Given the description of an element on the screen output the (x, y) to click on. 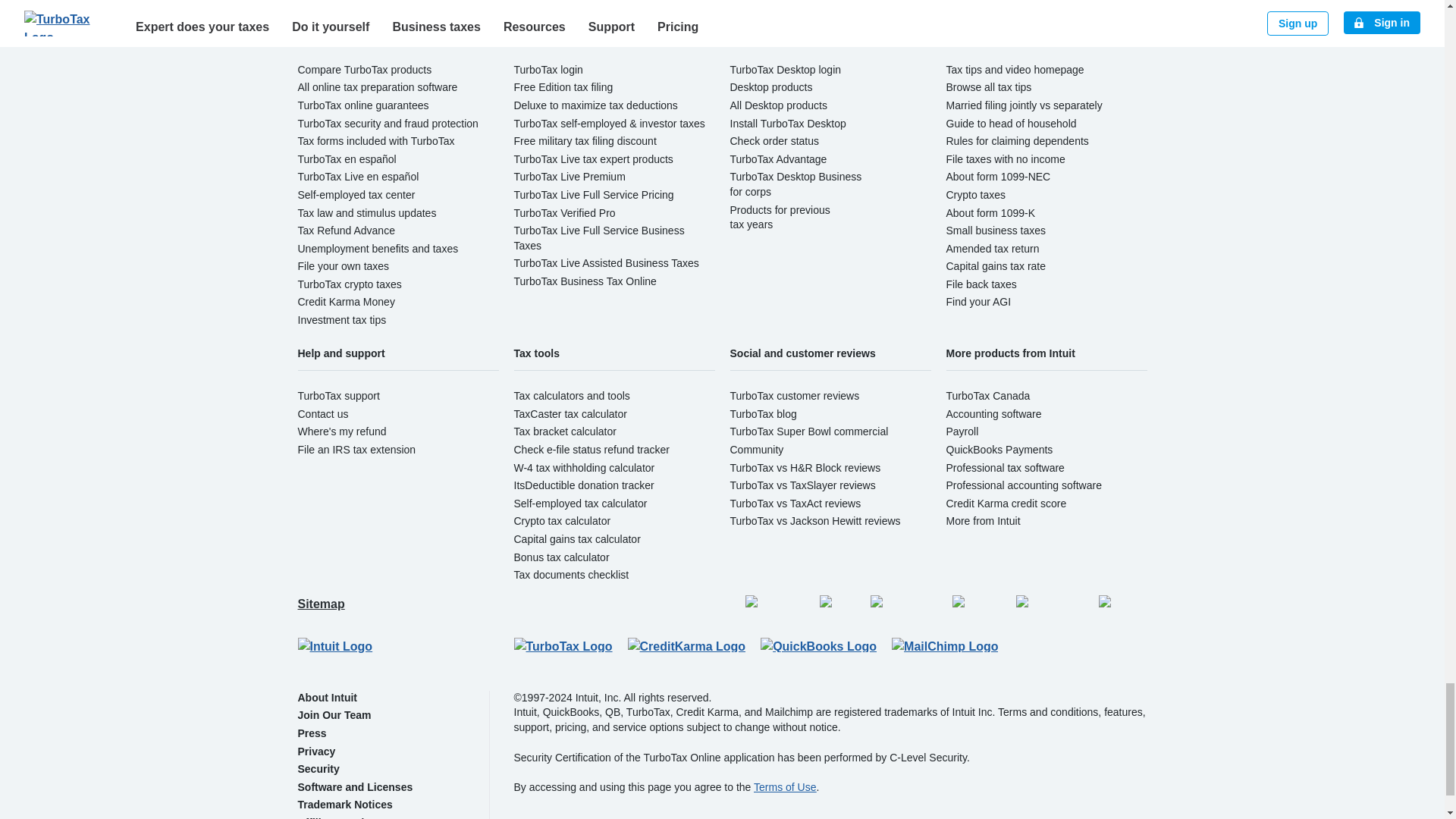
Check order status (773, 141)
Install TurboTax Desktop (787, 123)
TurboTax login (548, 69)
TurboTax Live tax expert products (592, 159)
TurboTax Verified Pro (564, 212)
Deluxe to maximize tax deductions (595, 105)
Compare TurboTax products (363, 69)
TurboTax Business for corps (795, 184)
Free Military tax filing discount (584, 141)
Free Edition tax filing (562, 87)
